Given the description of an element on the screen output the (x, y) to click on. 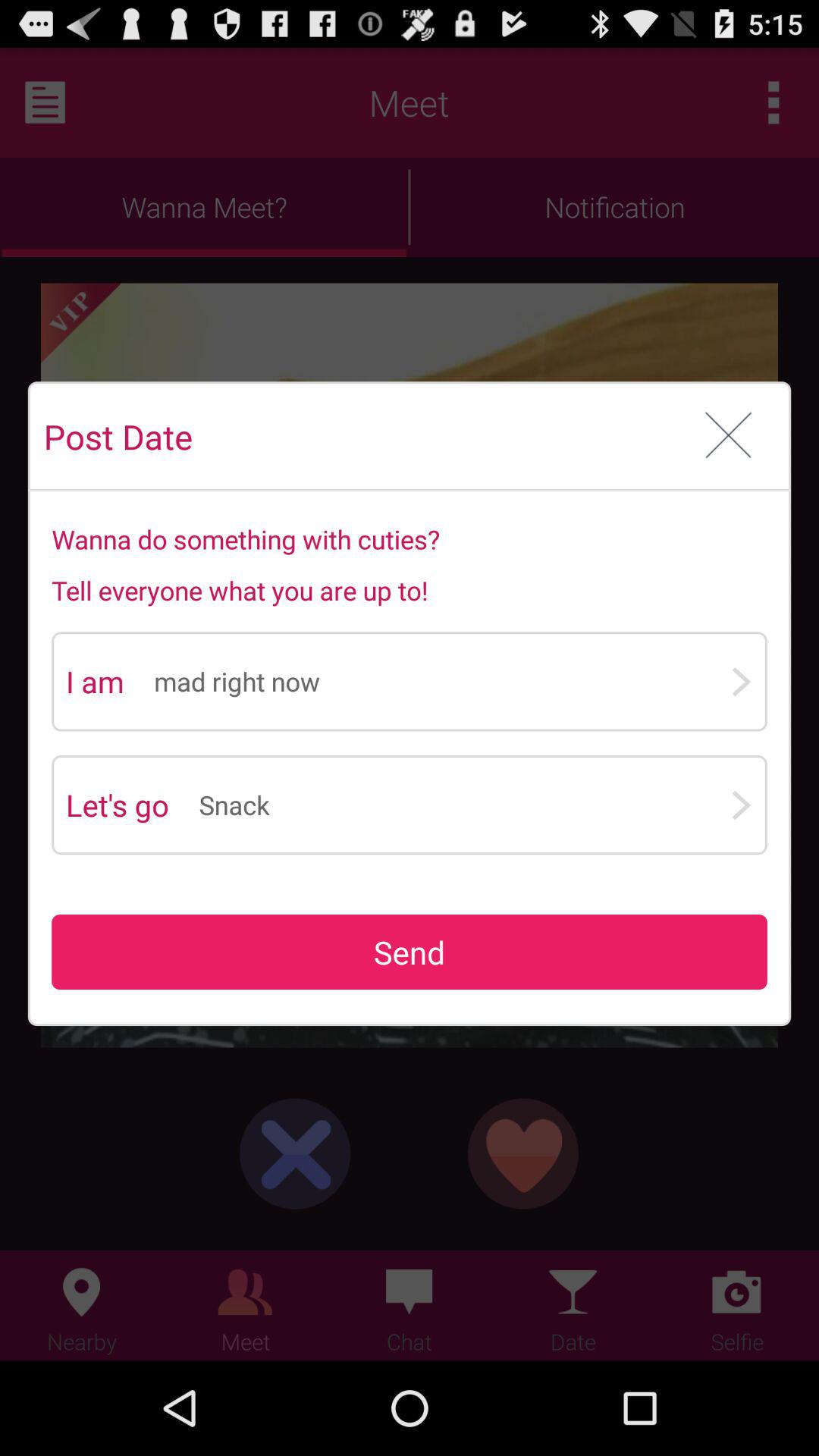
swipe until the send button (409, 951)
